Given the description of an element on the screen output the (x, y) to click on. 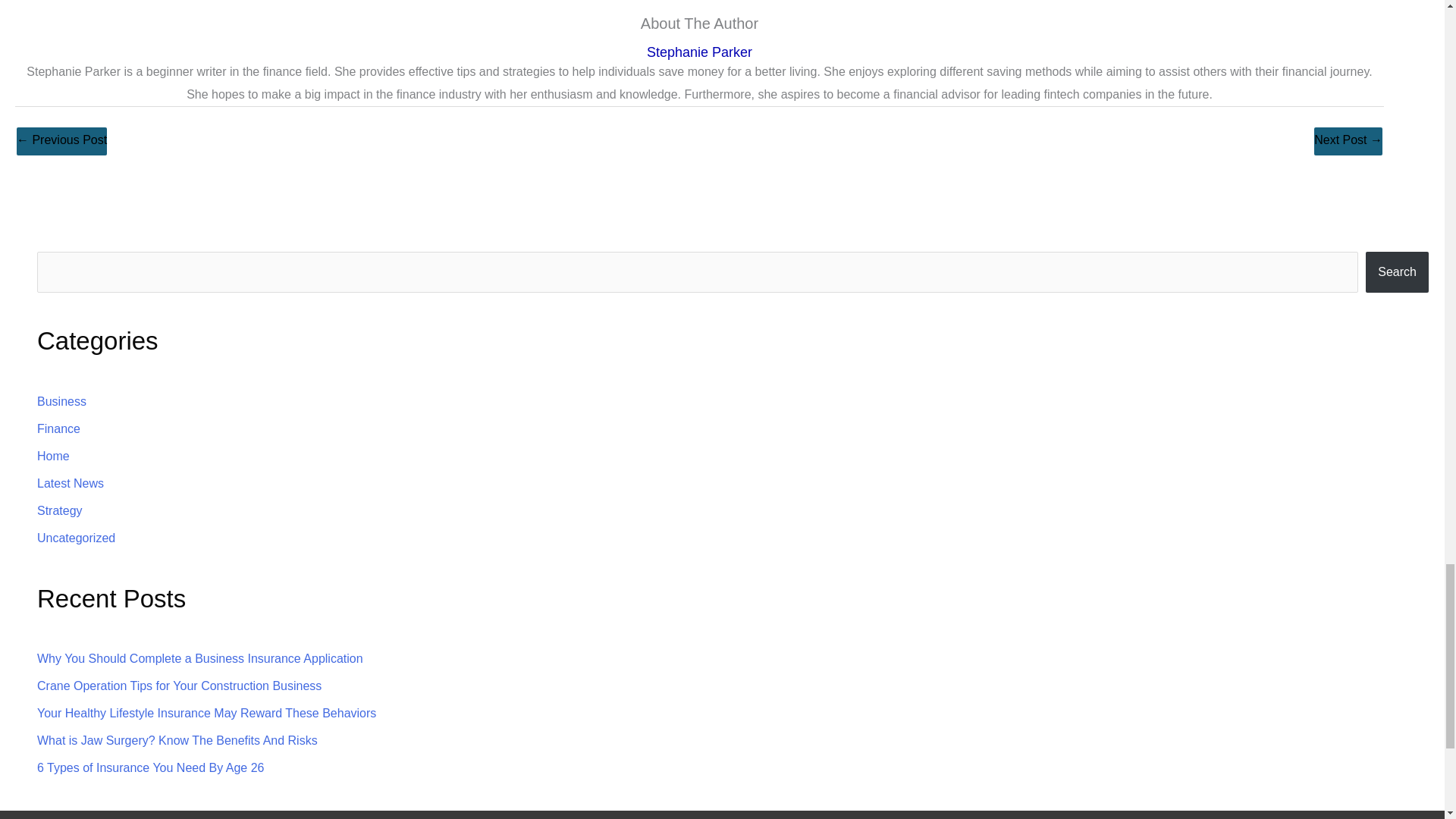
Strategy (59, 510)
4 Ways a Business Owner Saves for the Rainy Days (1347, 141)
Business (61, 400)
Search (1396, 271)
Home (53, 455)
Stephanie Parker (699, 52)
Why You Should Complete a Business Insurance Application (199, 658)
Finance (58, 428)
Latest News (70, 482)
Ways To Secure the Future of Your Business (61, 141)
